Given the description of an element on the screen output the (x, y) to click on. 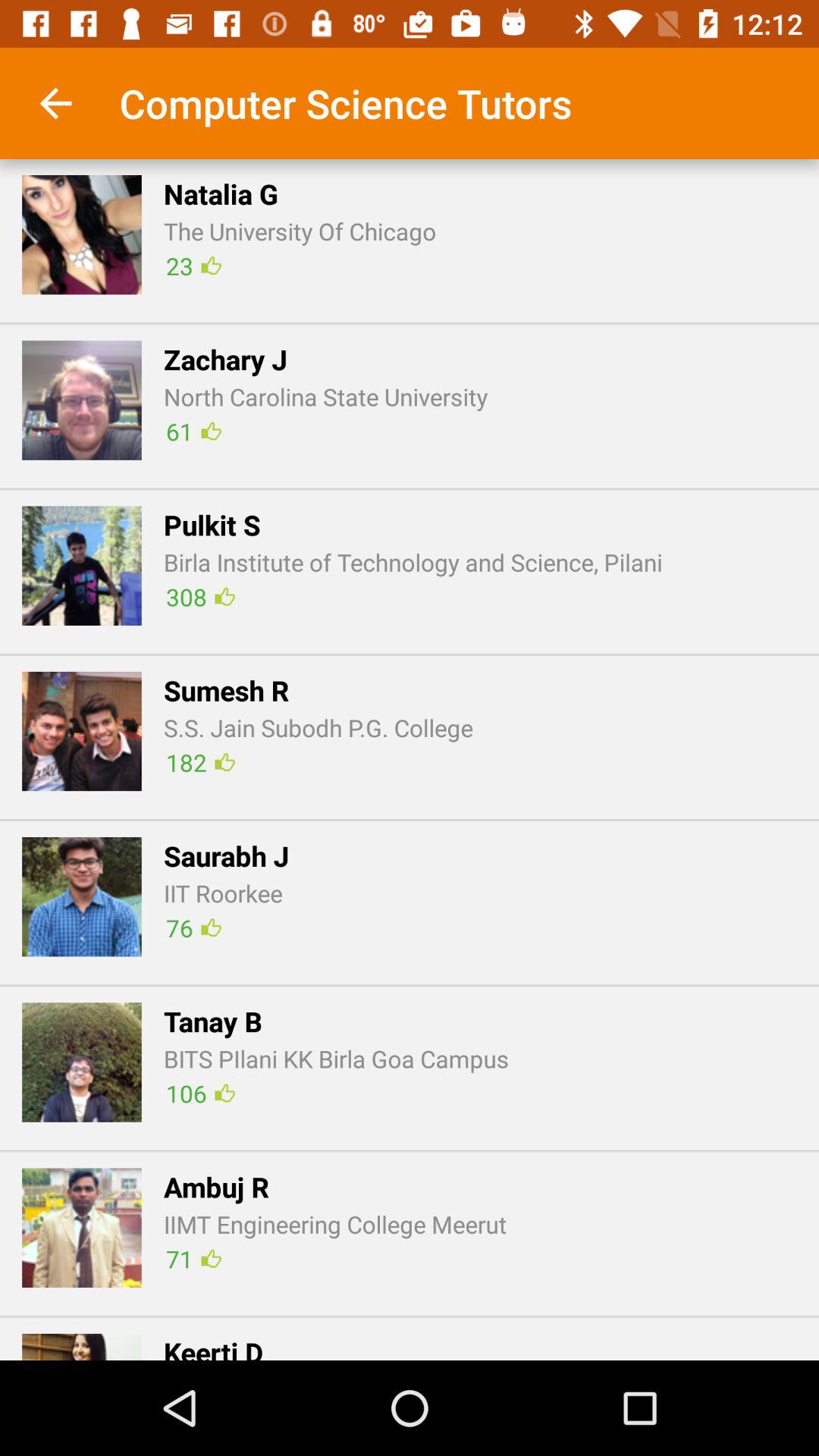
turn off item below the n (409, 323)
